Given the description of an element on the screen output the (x, y) to click on. 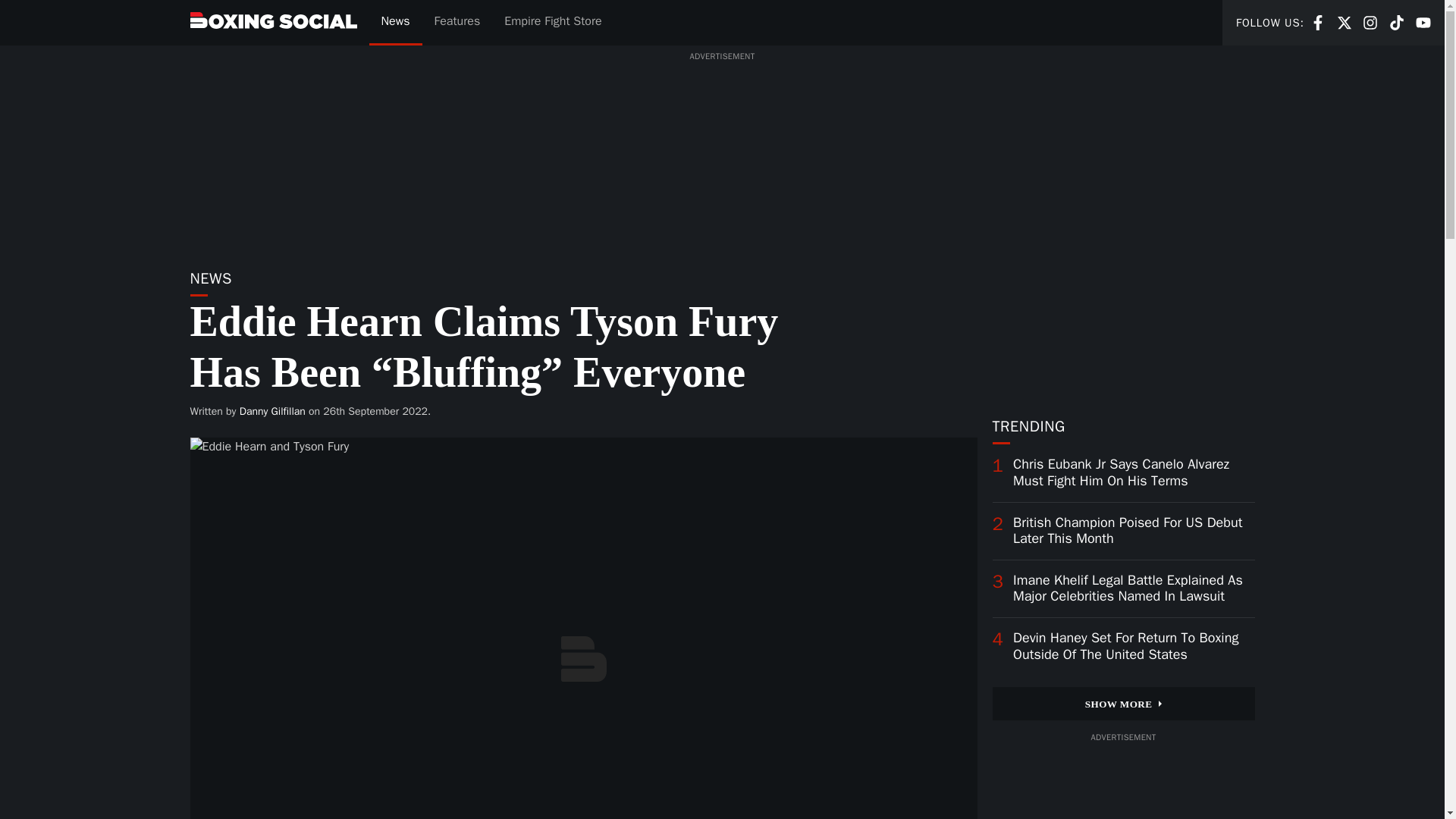
Empire Fight Store (1317, 21)
News (552, 22)
INSTAGRAM (395, 22)
Danny Gilfillan (1369, 22)
FACEBOOK (272, 410)
SHOW MORE (1317, 22)
